Given the description of an element on the screen output the (x, y) to click on. 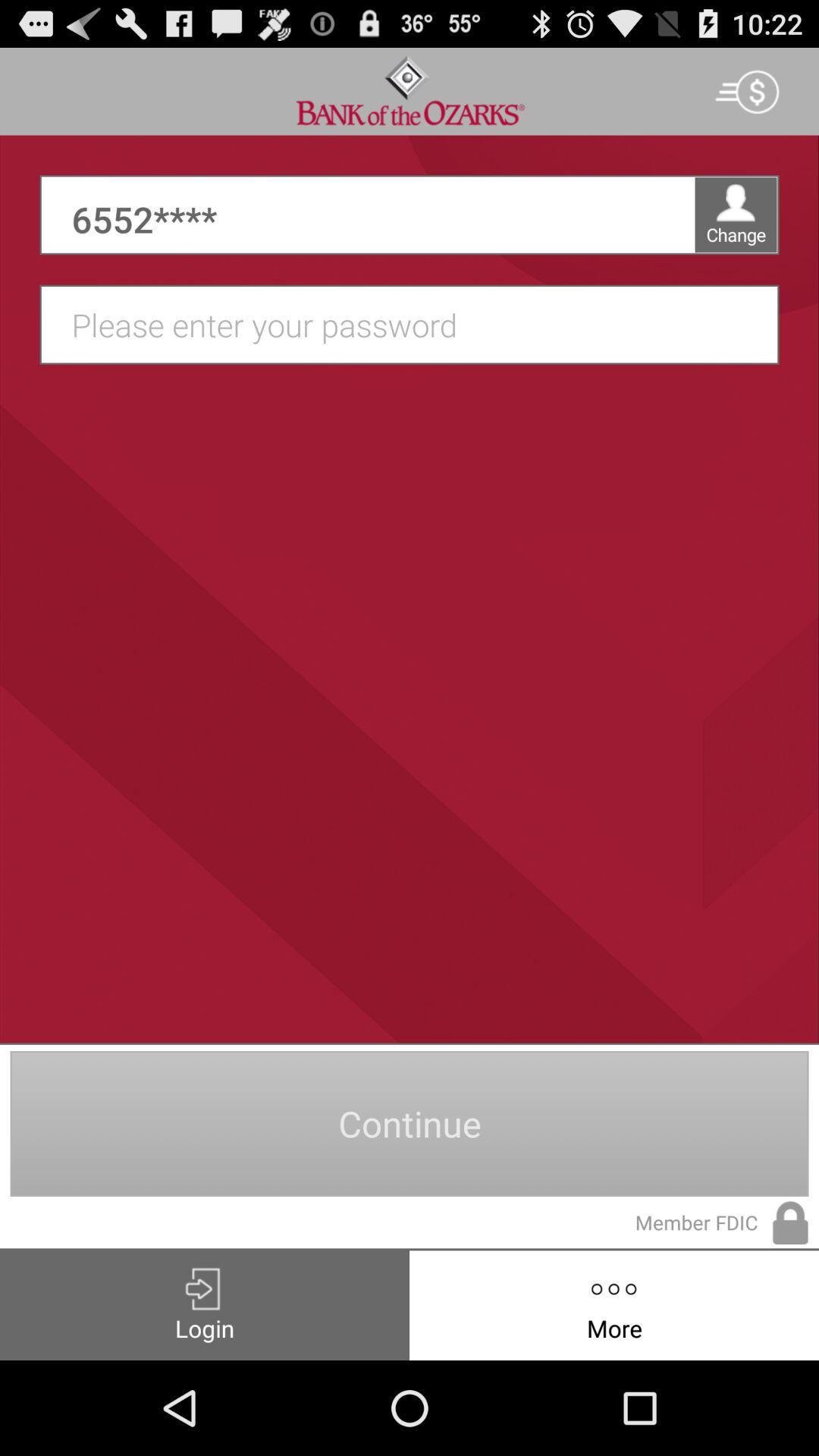
password bar (417, 324)
